Given the description of an element on the screen output the (x, y) to click on. 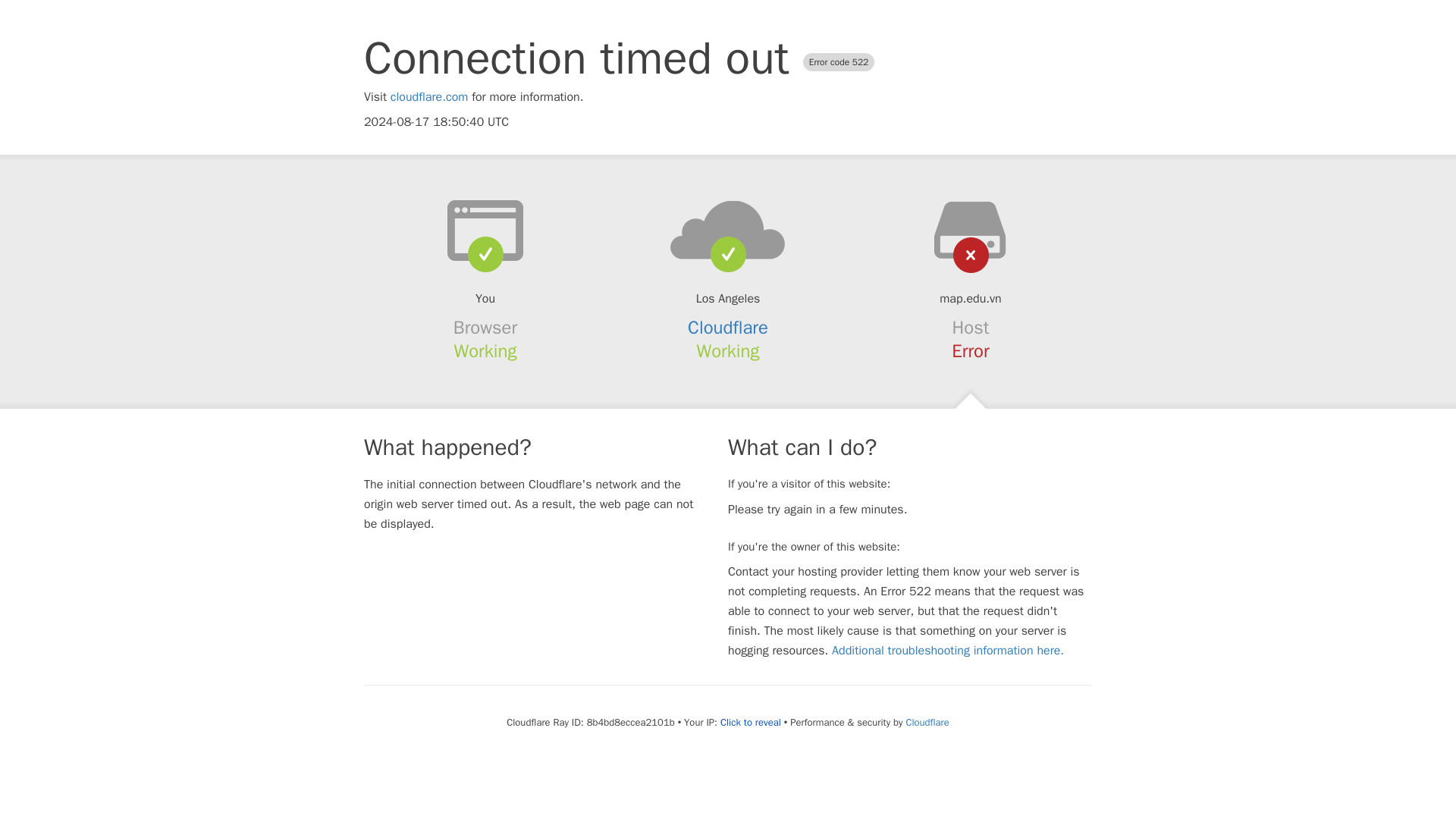
Cloudflare (727, 327)
Cloudflare (927, 721)
cloudflare.com (429, 96)
Click to reveal (750, 722)
Additional troubleshooting information here. (947, 650)
